Given the description of an element on the screen output the (x, y) to click on. 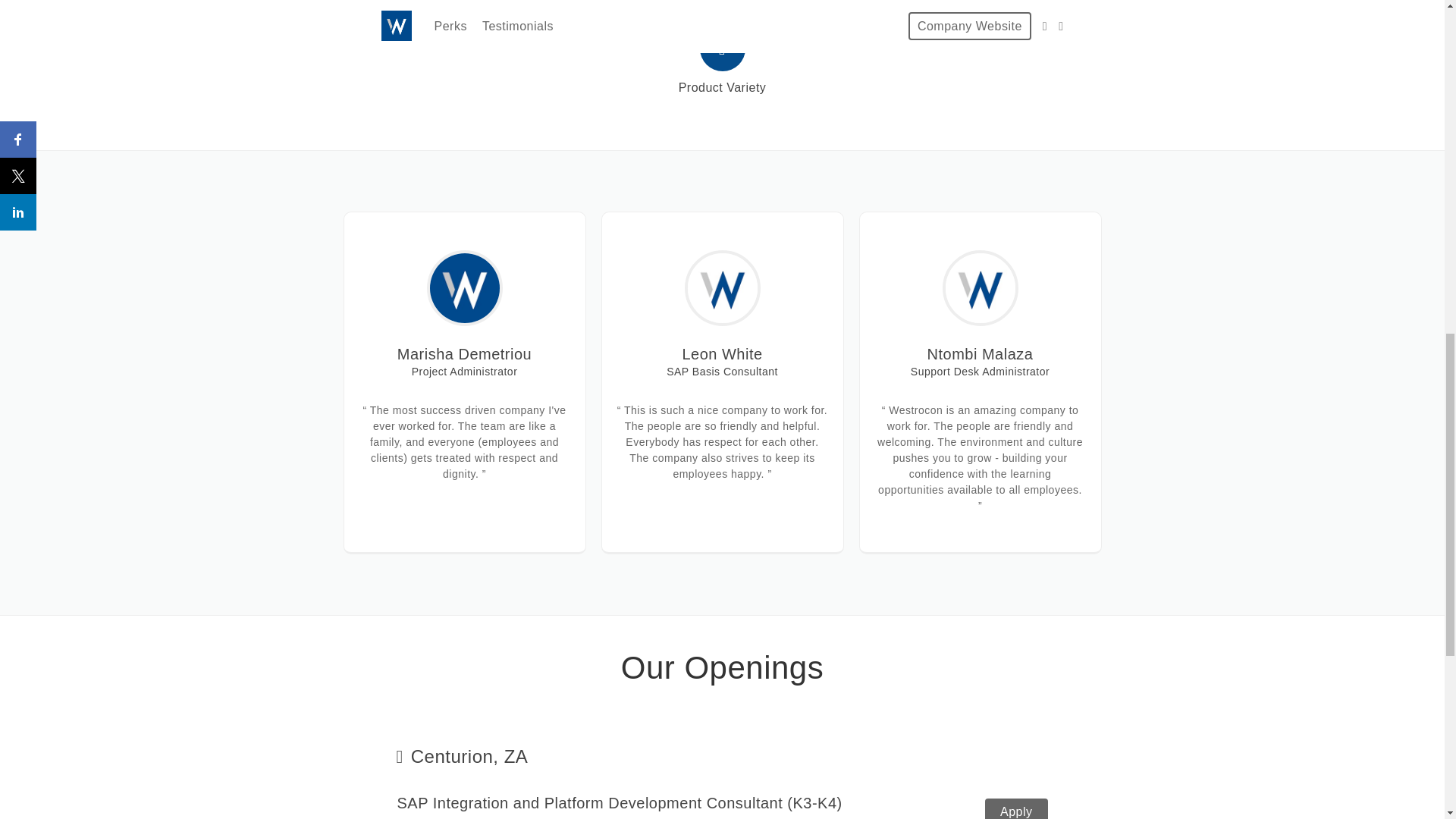
Apply (722, 805)
Apply (1016, 808)
